Given the description of an element on the screen output the (x, y) to click on. 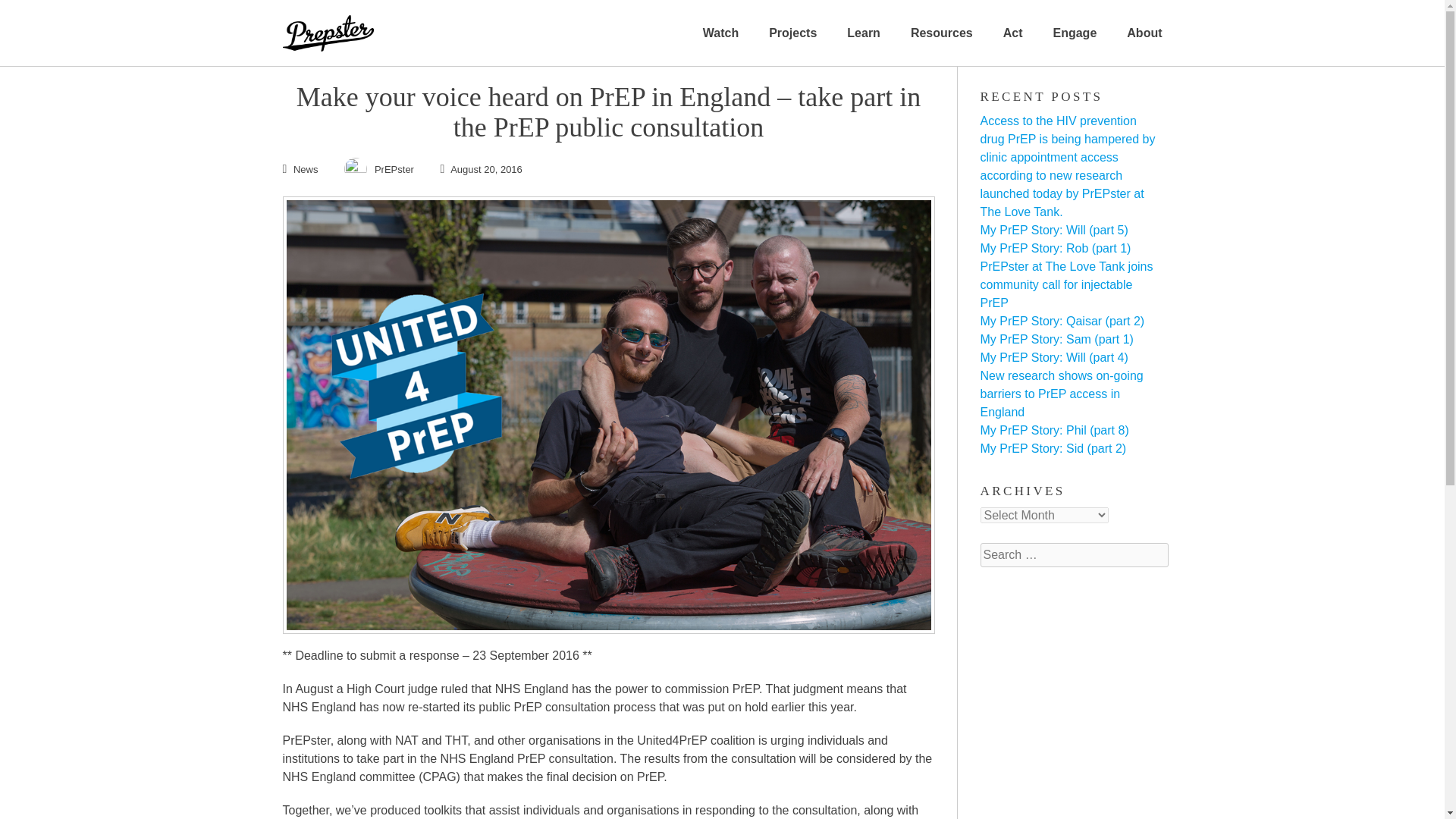
Prepster (327, 25)
